Given the description of an element on the screen output the (x, y) to click on. 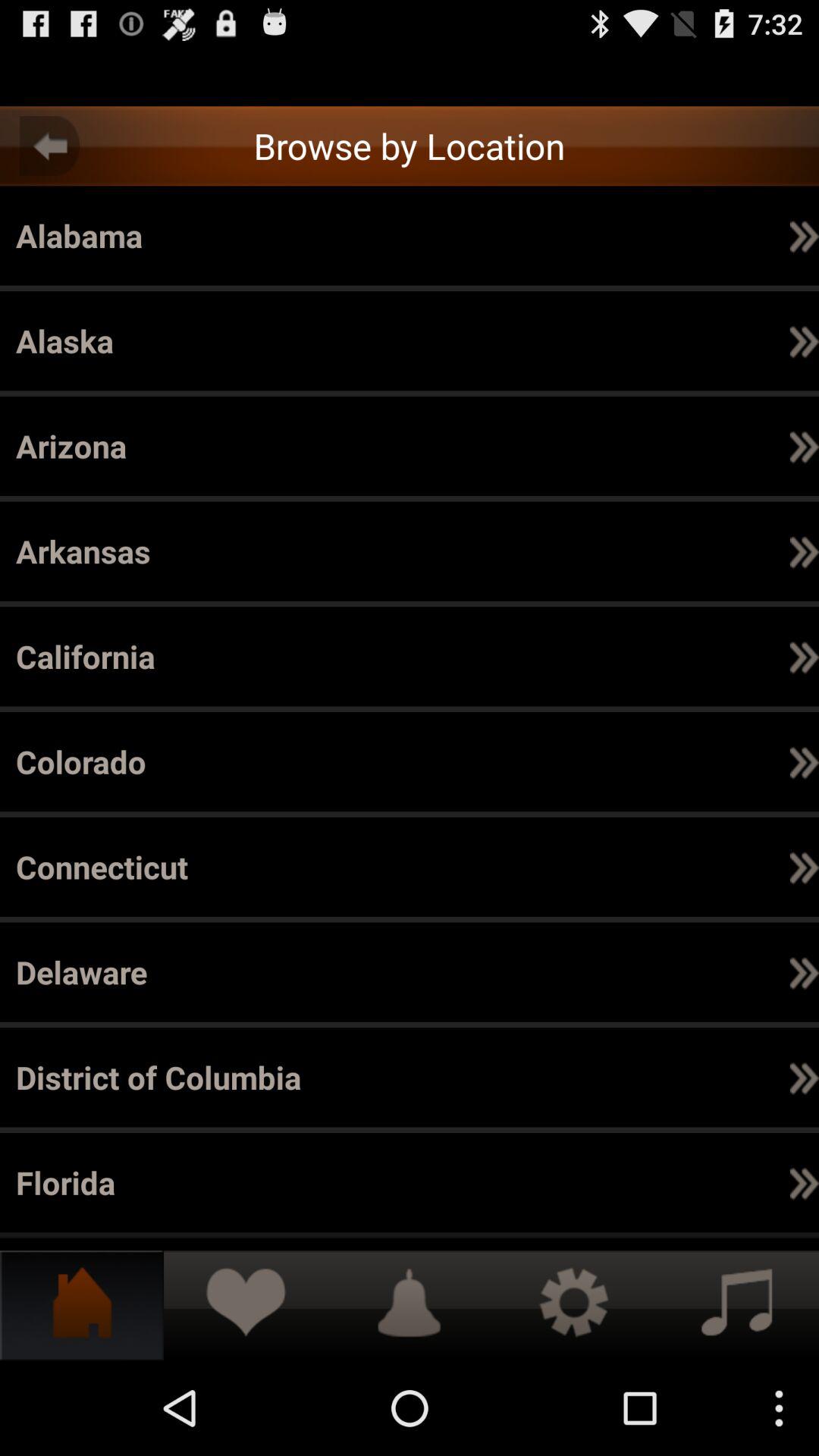
go back (49, 145)
